Given the description of an element on the screen output the (x, y) to click on. 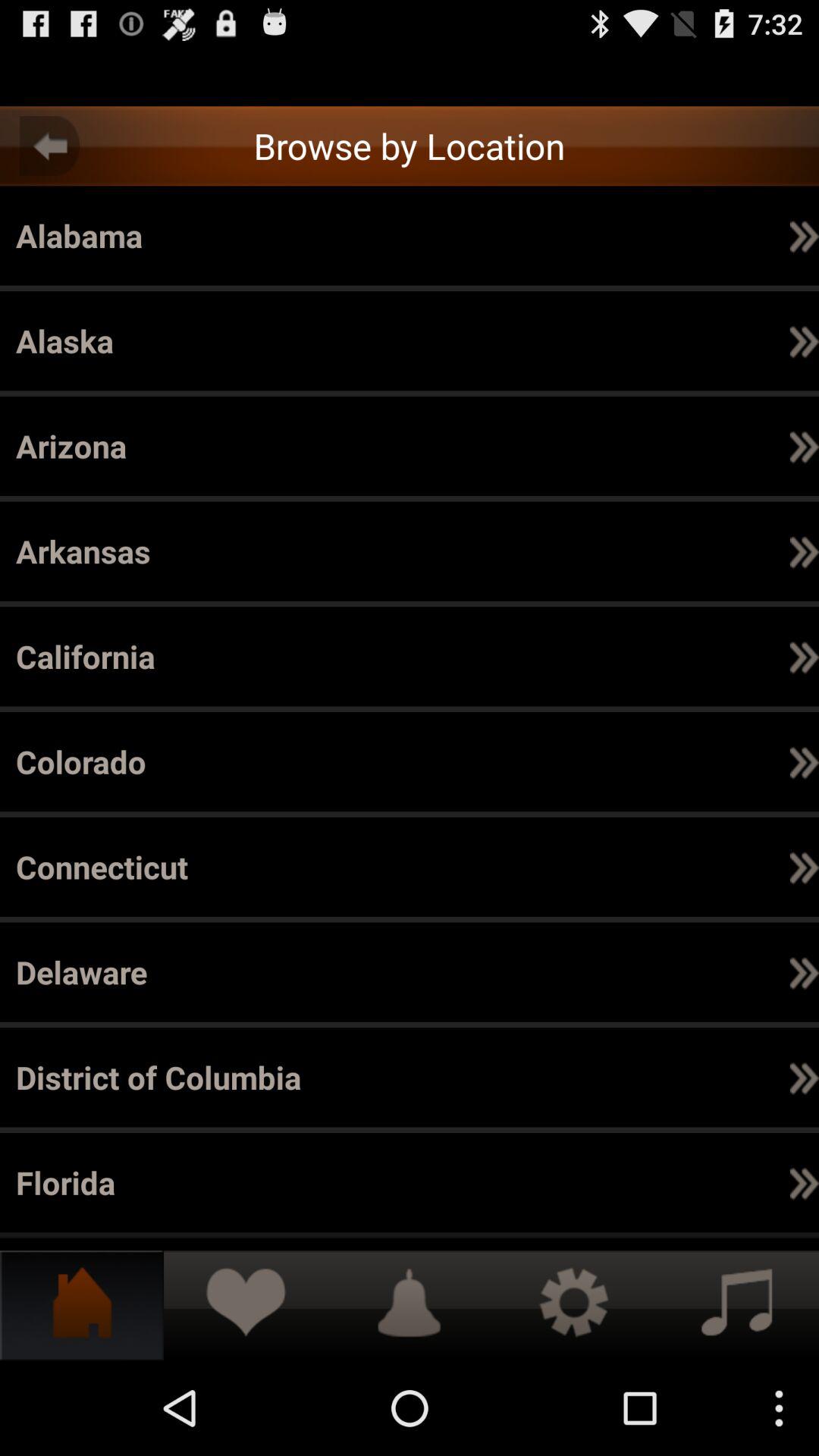
go back (49, 145)
